Given the description of an element on the screen output the (x, y) to click on. 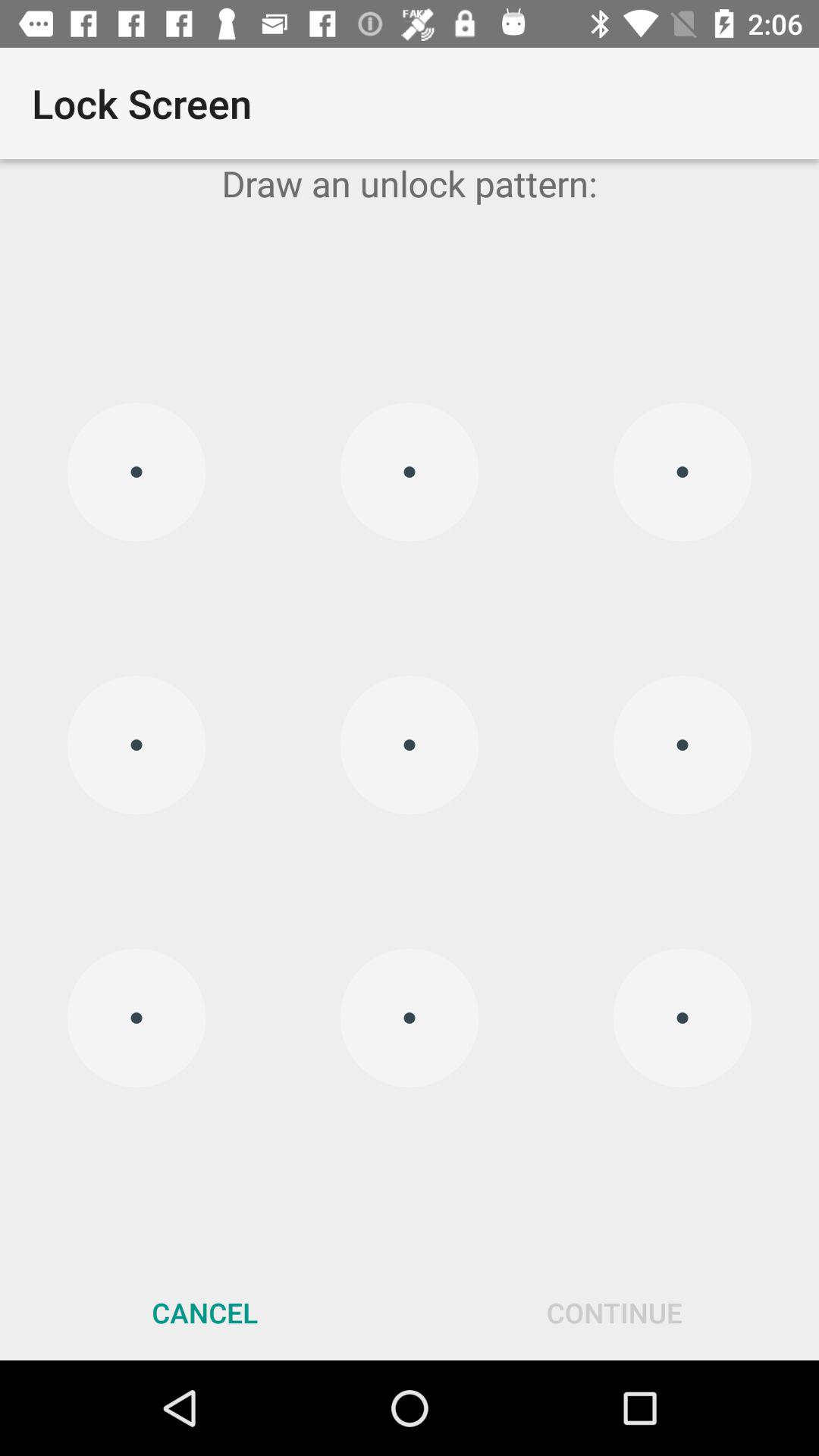
tap item below the lock screen (409, 183)
